Given the description of an element on the screen output the (x, y) to click on. 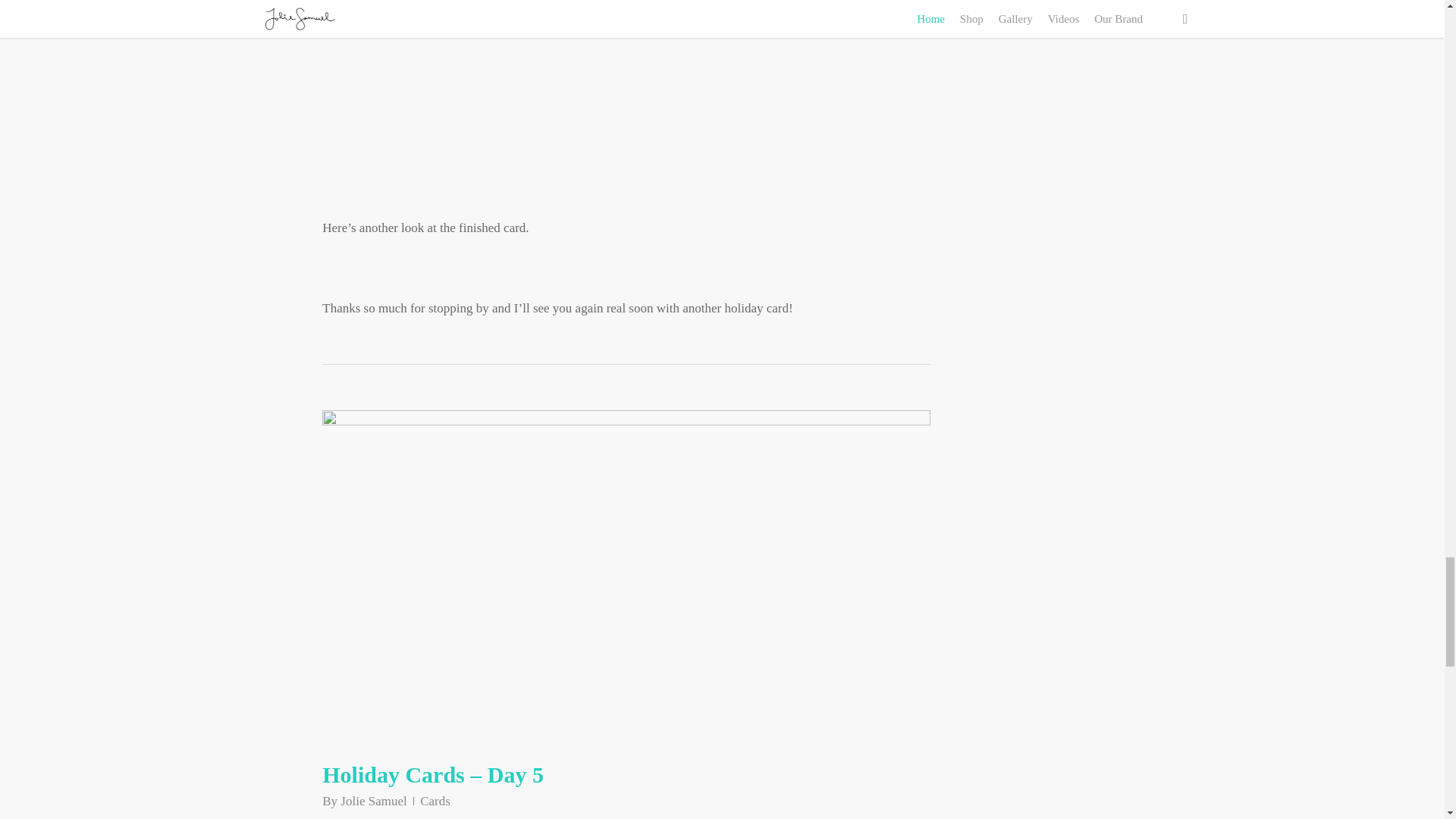
Jolie Samuel (373, 800)
Cards (434, 800)
Posts by Jolie Samuel (373, 800)
